Given the description of an element on the screen output the (x, y) to click on. 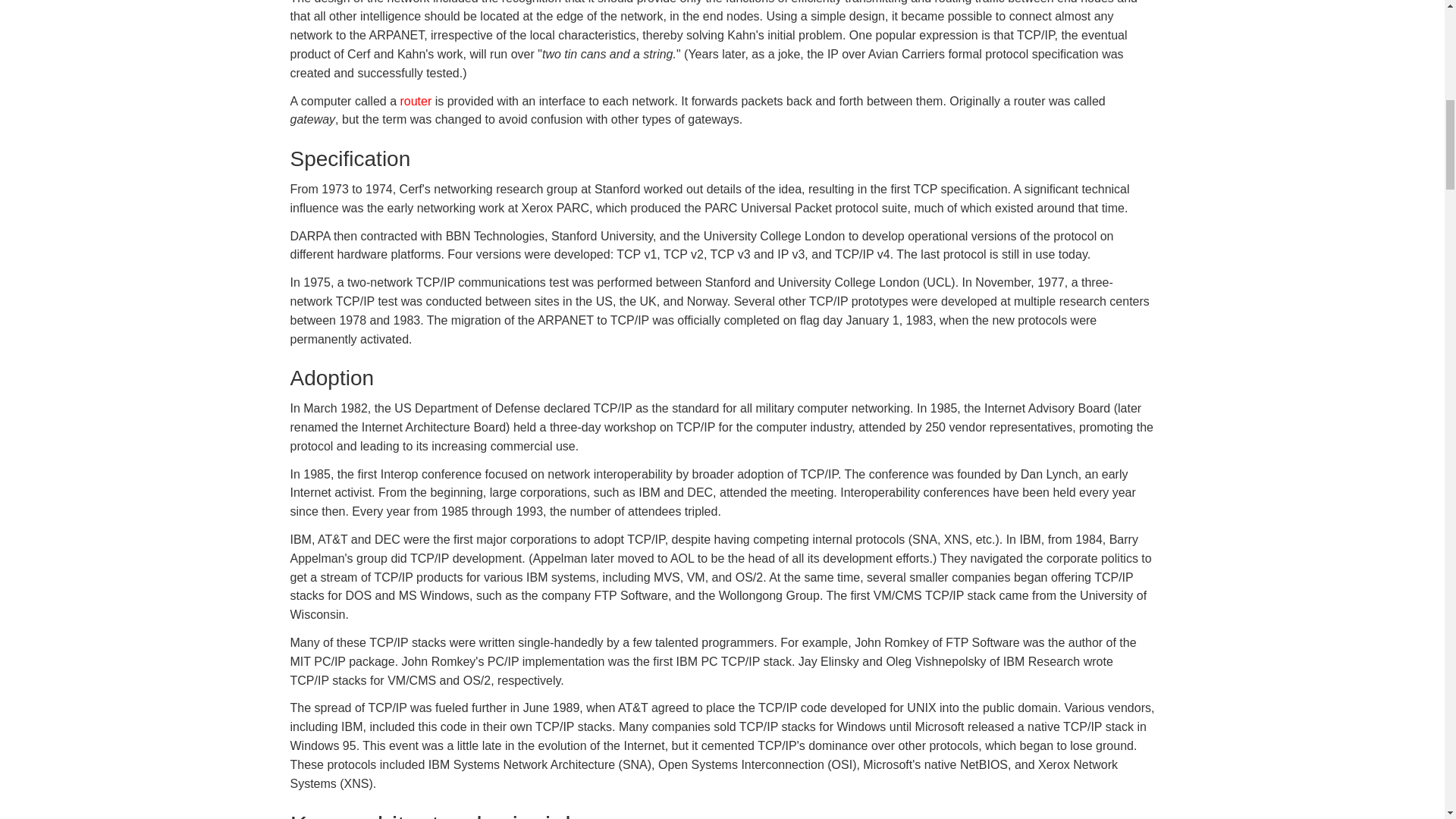
router (414, 101)
